Given the description of an element on the screen output the (x, y) to click on. 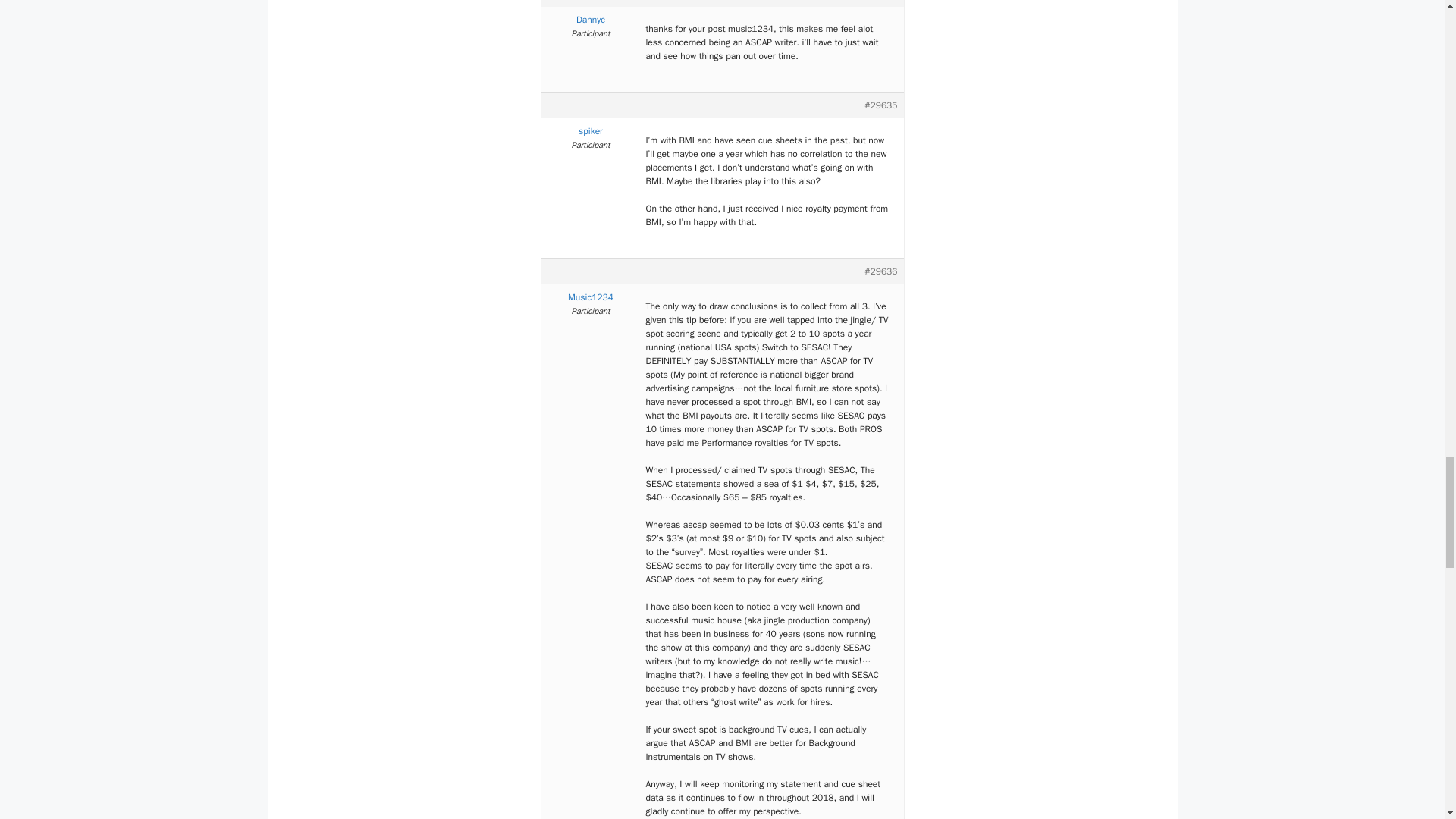
View spiker's profile (590, 131)
View Music1234's profile (590, 296)
View Dannyc's profile (590, 19)
